Given the description of an element on the screen output the (x, y) to click on. 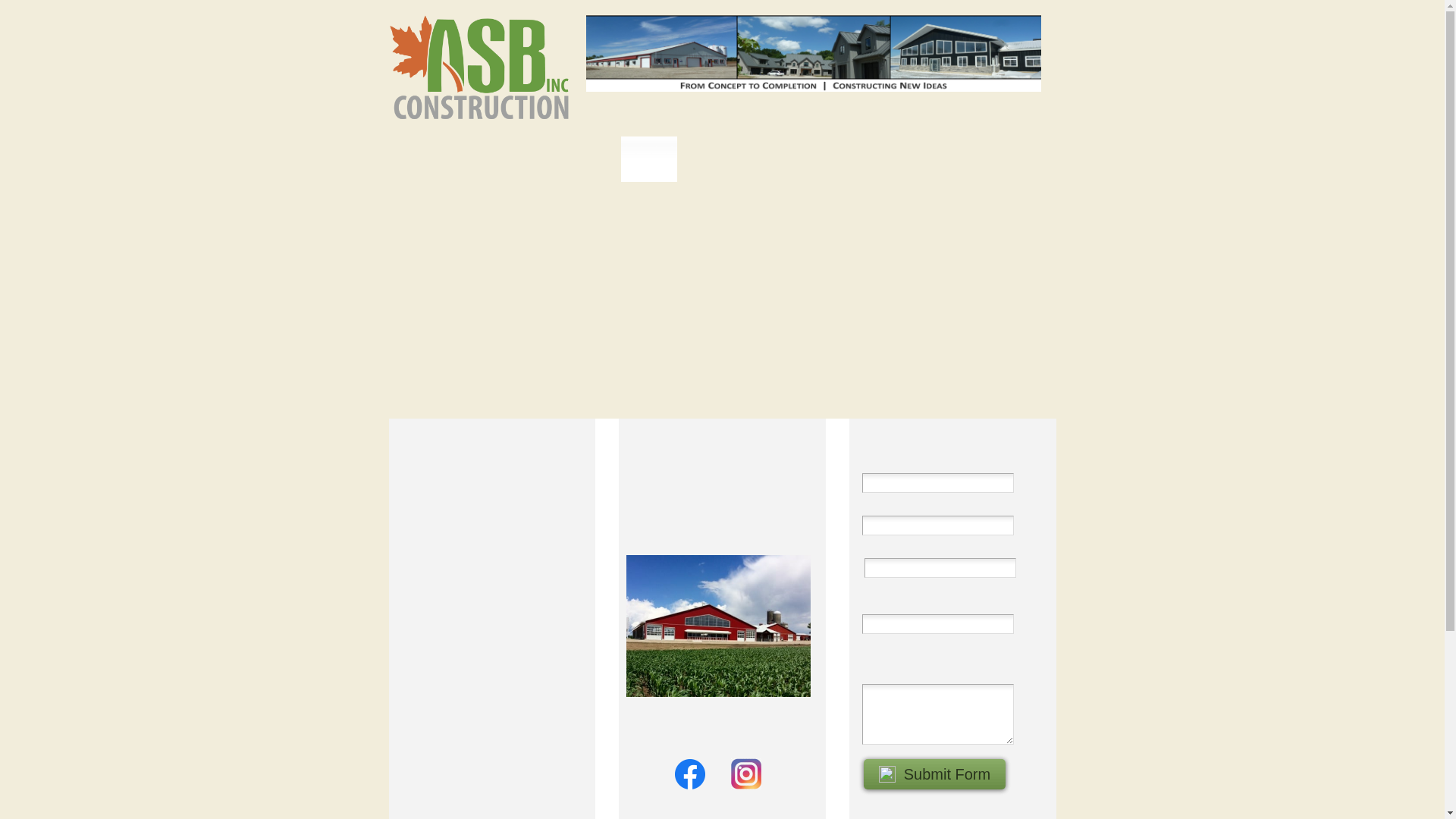
ASB Inc.  ::  Custom Builder Element type: hover (704, 636)
Contact Us Element type: text (784, 159)
Submit Form Element type: text (934, 773)
ASB Inc. :: Custom Builder Element type: hover (813, 53)
Portfolio Element type: text (711, 159)
Home Element type: text (649, 159)
Go to site home page Element type: hover (479, 68)
Contact Us Element type: text (948, 436)
About Us Element type: text (487, 436)
519.532.4760. Element type: text (460, 665)
Location Element type: text (718, 436)
